Given the description of an element on the screen output the (x, y) to click on. 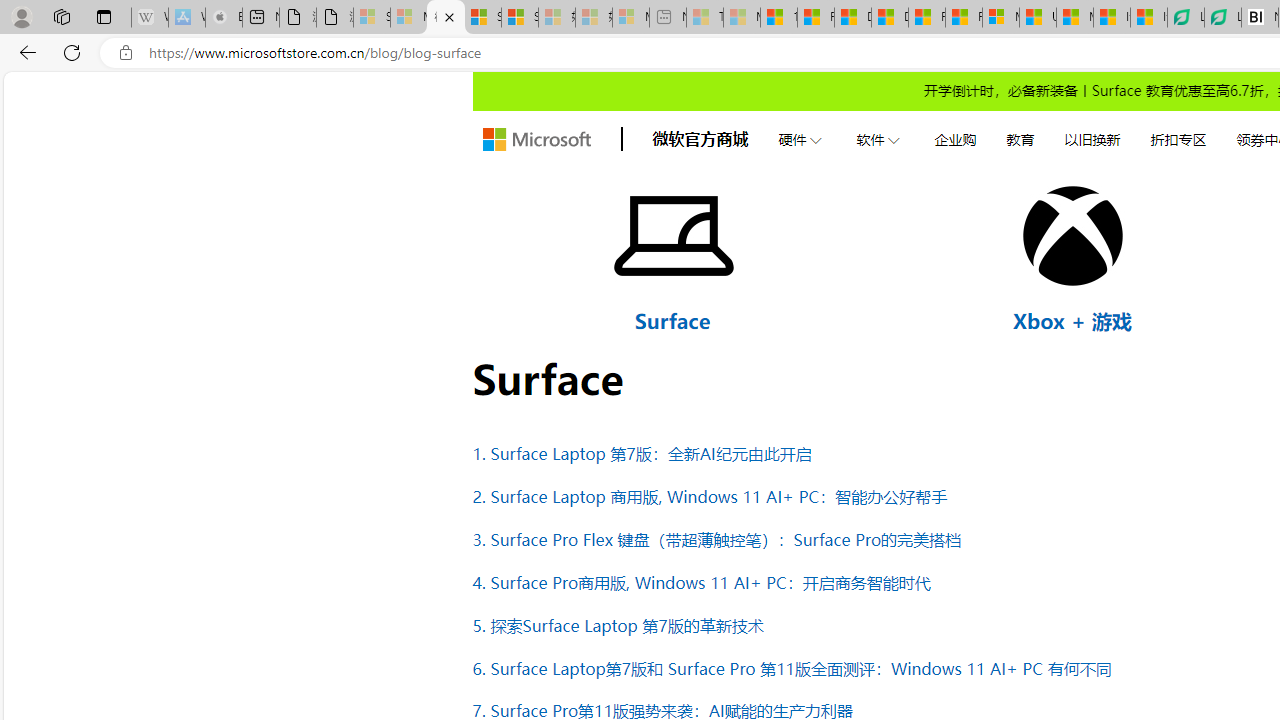
Sign in to your Microsoft account - Sleeping (372, 17)
